Given the description of an element on the screen output the (x, y) to click on. 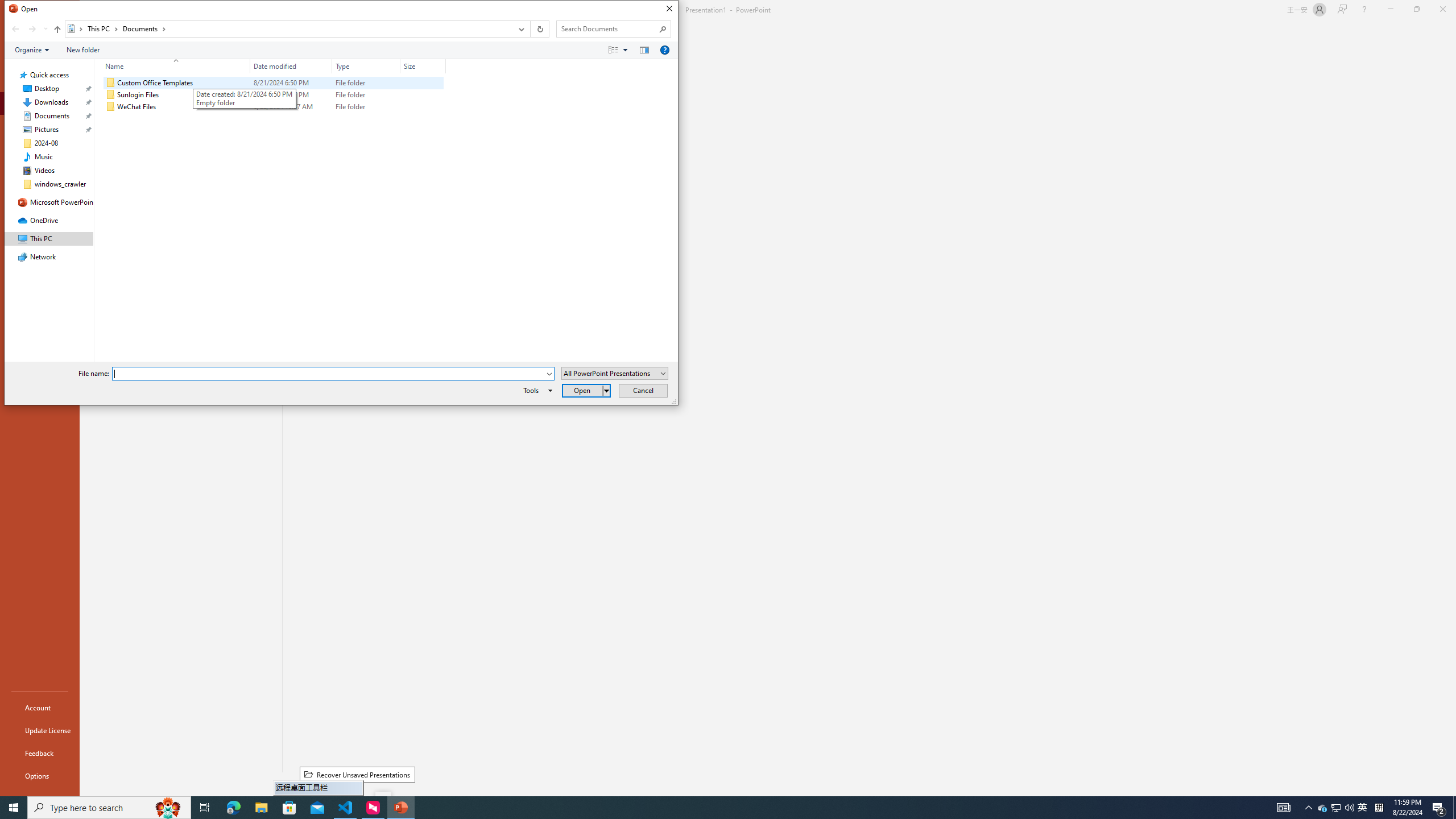
Update License (40, 730)
Documents (144, 28)
&Help (664, 49)
New folder (82, 49)
Date modified (290, 106)
Address: Documents (288, 28)
Recover Unsaved Presentations (356, 774)
